Given the description of an element on the screen output the (x, y) to click on. 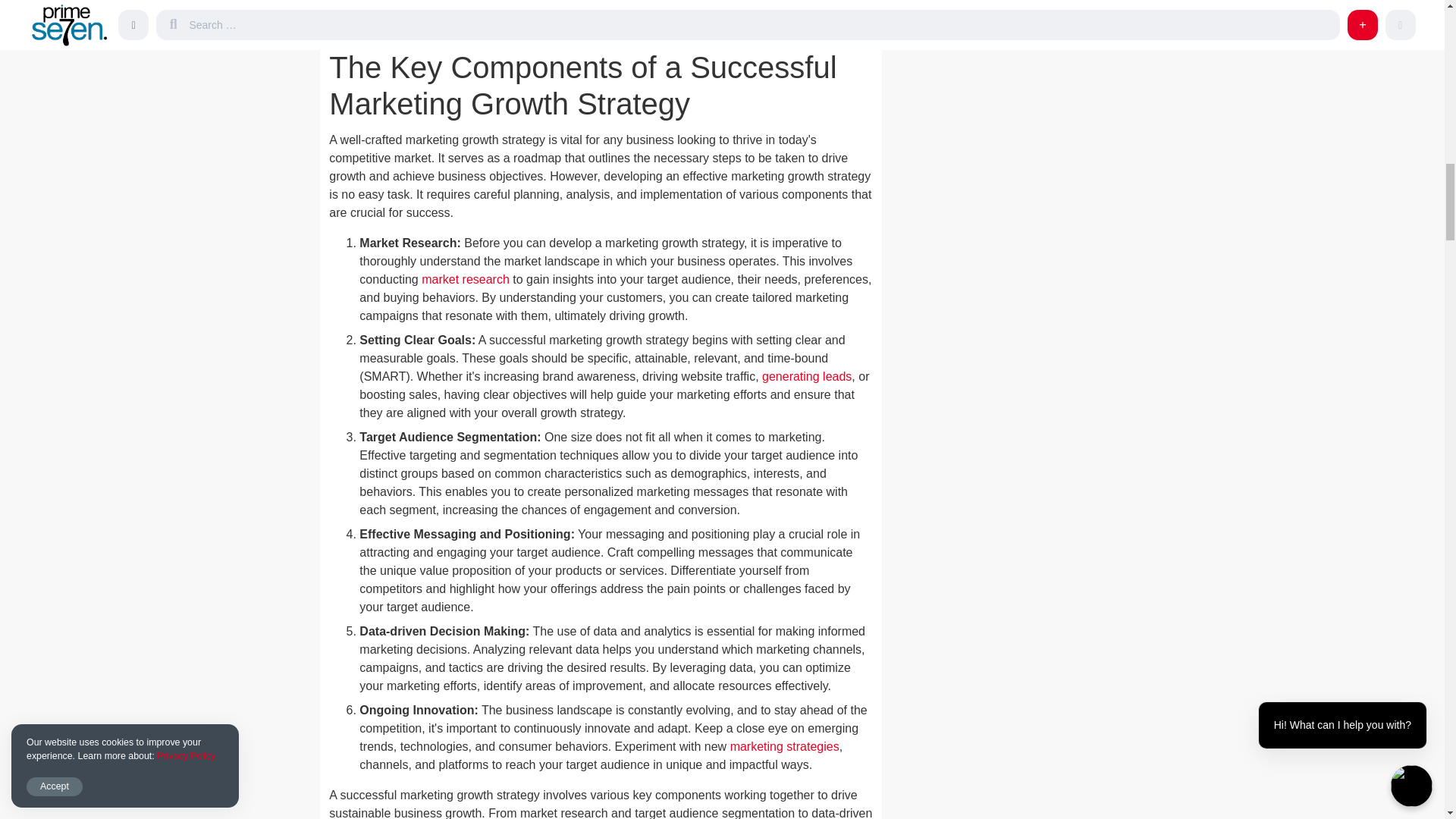
Create-an-4-color-illustration-featuring-a-massiv (600, 18)
